Given the description of an element on the screen output the (x, y) to click on. 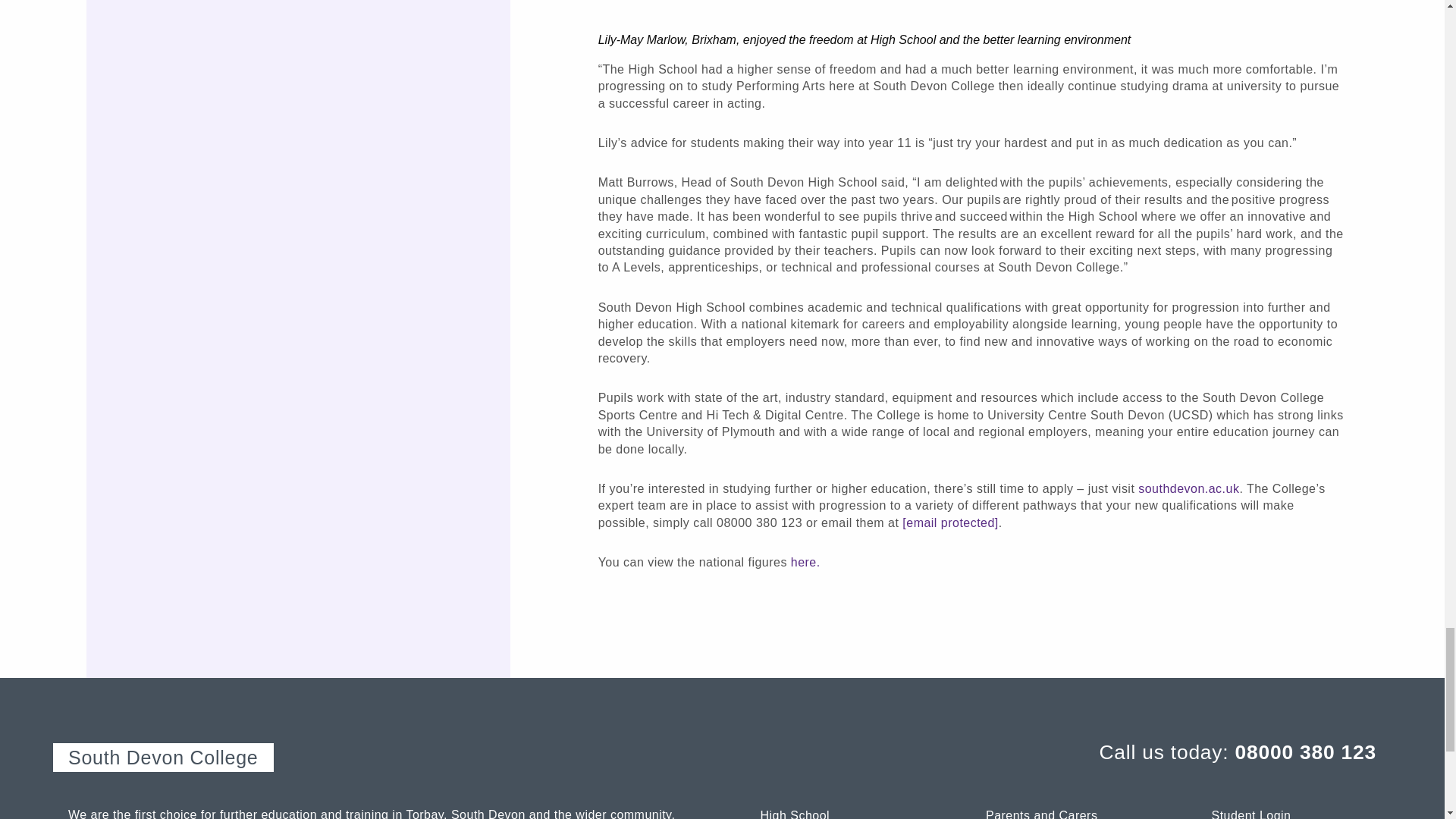
High School (842, 812)
Parents and Carers (1068, 812)
